Given the description of an element on the screen output the (x, y) to click on. 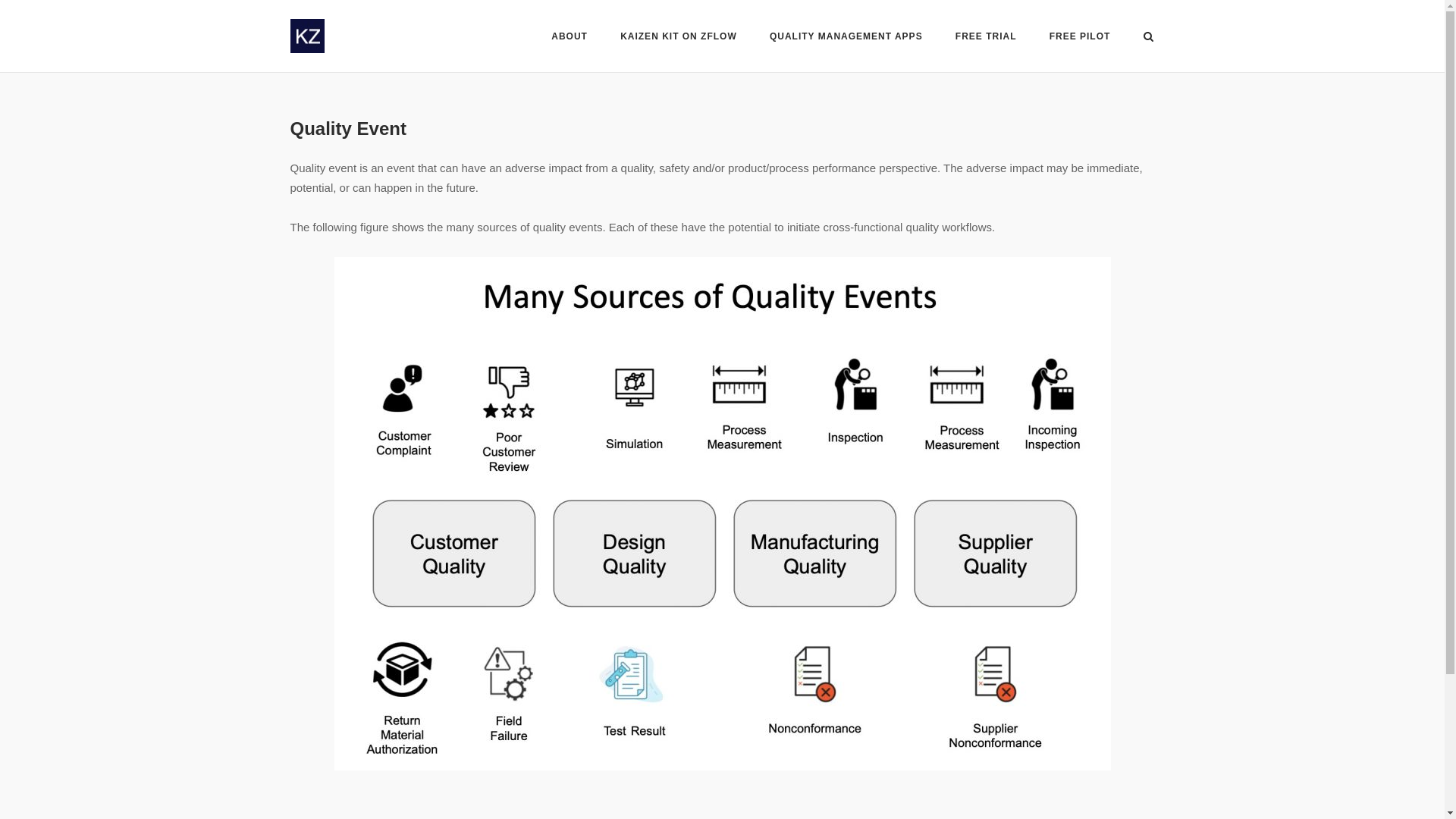
QUALITY MANAGEMENT APPS (846, 37)
ABOUT (569, 37)
KAIZEN KIT ON ZFLOW (678, 37)
